Given the description of an element on the screen output the (x, y) to click on. 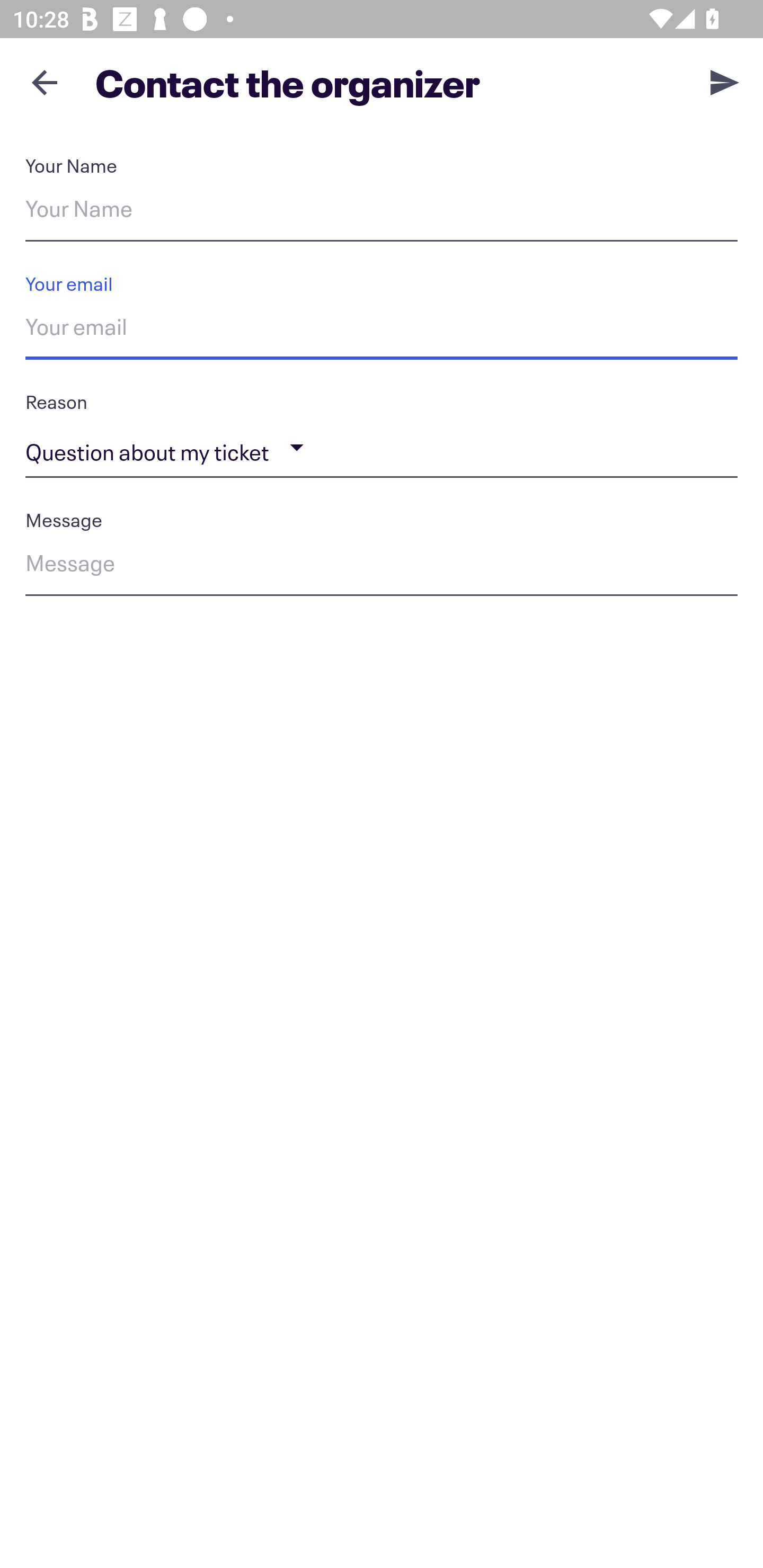
Navigate up (44, 82)
Send (724, 81)
Your Name (381, 211)
Your email (381, 329)
Question about my ticket    (381, 447)
Message (381, 565)
